Given the description of an element on the screen output the (x, y) to click on. 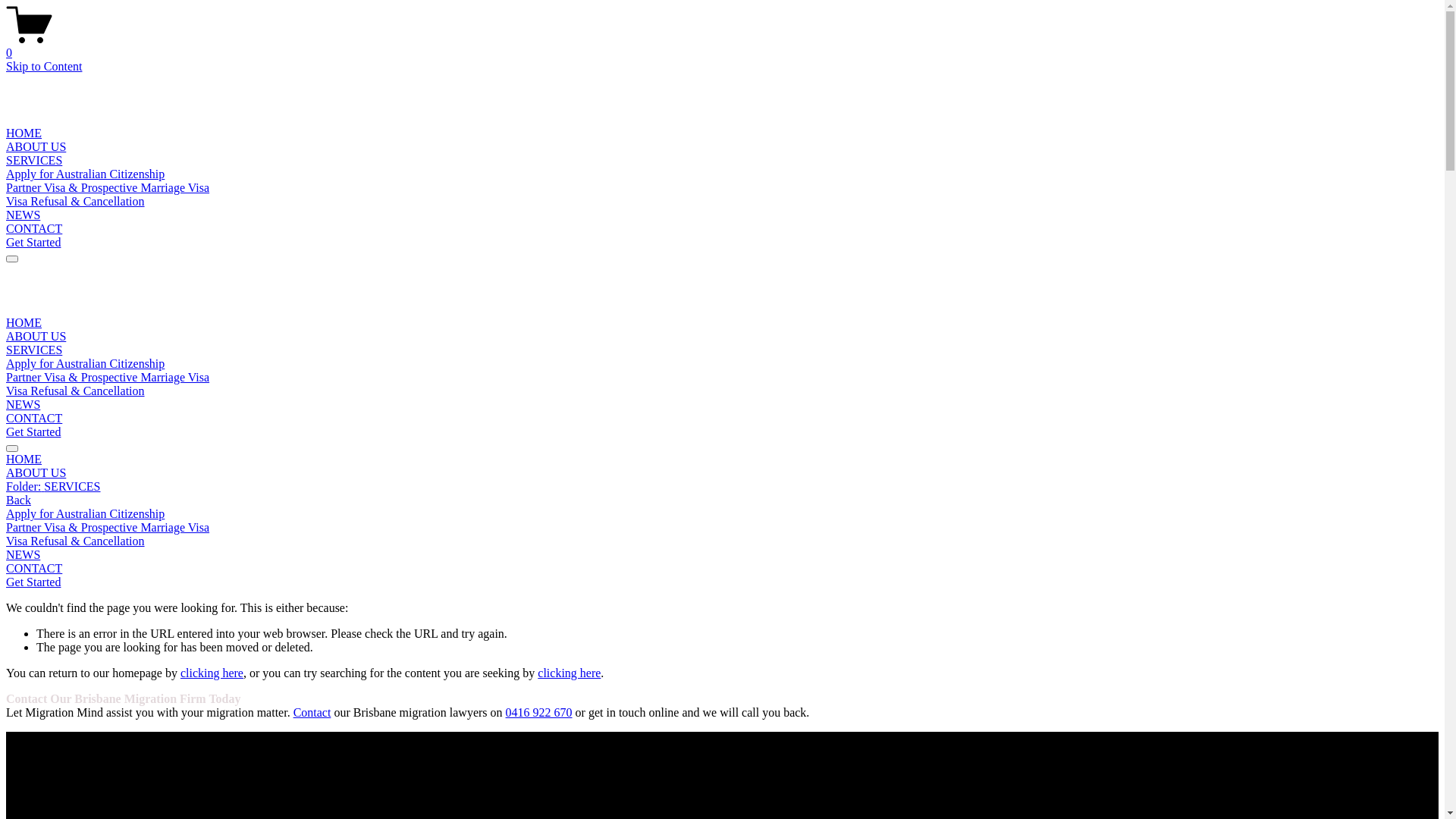
HOME Element type: text (722, 459)
Contact Element type: text (312, 712)
Apply for Australian Citizenship Element type: text (85, 173)
Skip to Content Element type: text (43, 65)
ABOUT US Element type: text (722, 473)
ABOUT US Element type: text (35, 146)
CONTACT Element type: text (34, 417)
SERVICES Element type: text (34, 159)
CONTACT Element type: text (722, 568)
Apply for Australian Citizenship Element type: text (722, 513)
HOME Element type: text (23, 322)
NEWS Element type: text (23, 404)
0416 922 670 Element type: text (538, 712)
0 Element type: text (722, 45)
ABOUT US Element type: text (35, 335)
Back Element type: text (18, 499)
Partner Visa & Prospective Marriage Visa Element type: text (722, 527)
clicking here Element type: text (568, 672)
CONTACT Element type: text (34, 228)
Get Started Element type: text (33, 431)
Visa Refusal & Cancellation Element type: text (75, 200)
NEWS Element type: text (722, 554)
Get Started Element type: text (33, 581)
Get Started Element type: text (33, 241)
NEWS Element type: text (23, 214)
Partner Visa & Prospective Marriage Visa Element type: text (107, 376)
HOME Element type: text (23, 132)
Partner Visa & Prospective Marriage Visa Element type: text (107, 187)
Folder: SERVICES Element type: text (722, 486)
SERVICES Element type: text (34, 349)
clicking here Element type: text (211, 672)
Visa Refusal & Cancellation Element type: text (722, 541)
Visa Refusal & Cancellation Element type: text (75, 390)
Apply for Australian Citizenship Element type: text (85, 363)
